Given the description of an element on the screen output the (x, y) to click on. 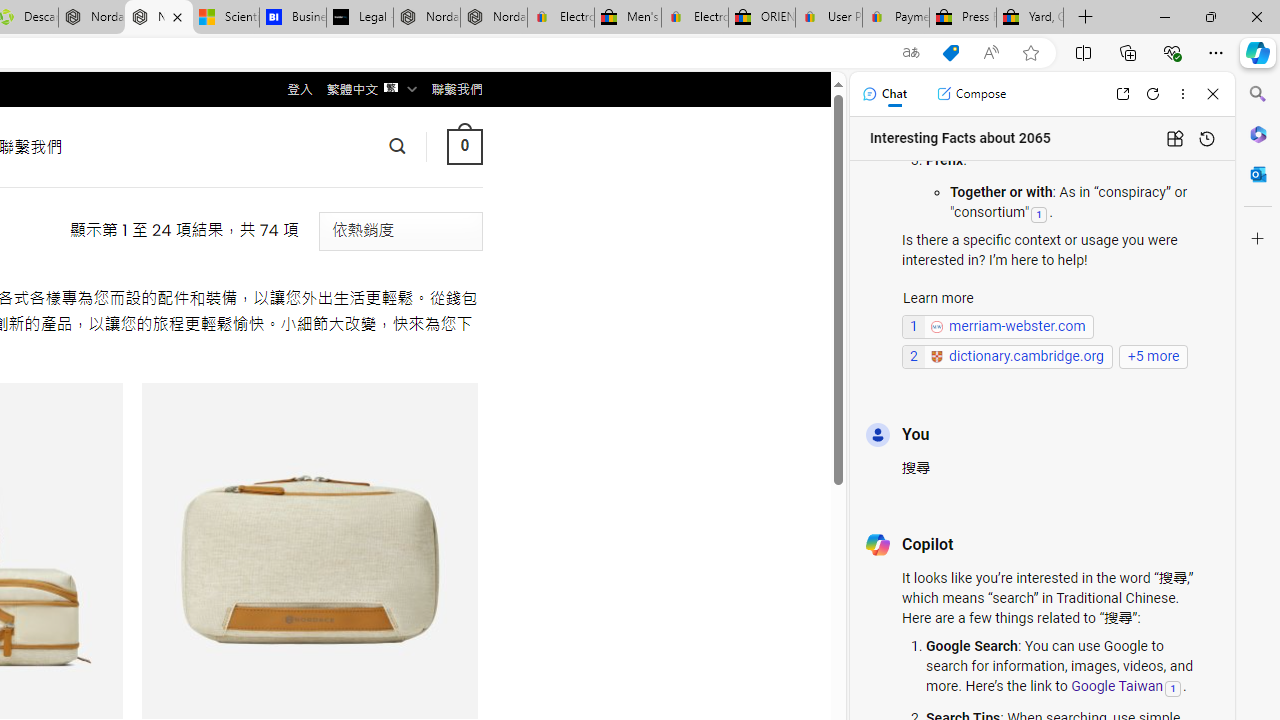
User Privacy Notice | eBay (828, 17)
Chat (884, 93)
Minimize Search pane (1258, 94)
